Given the description of an element on the screen output the (x, y) to click on. 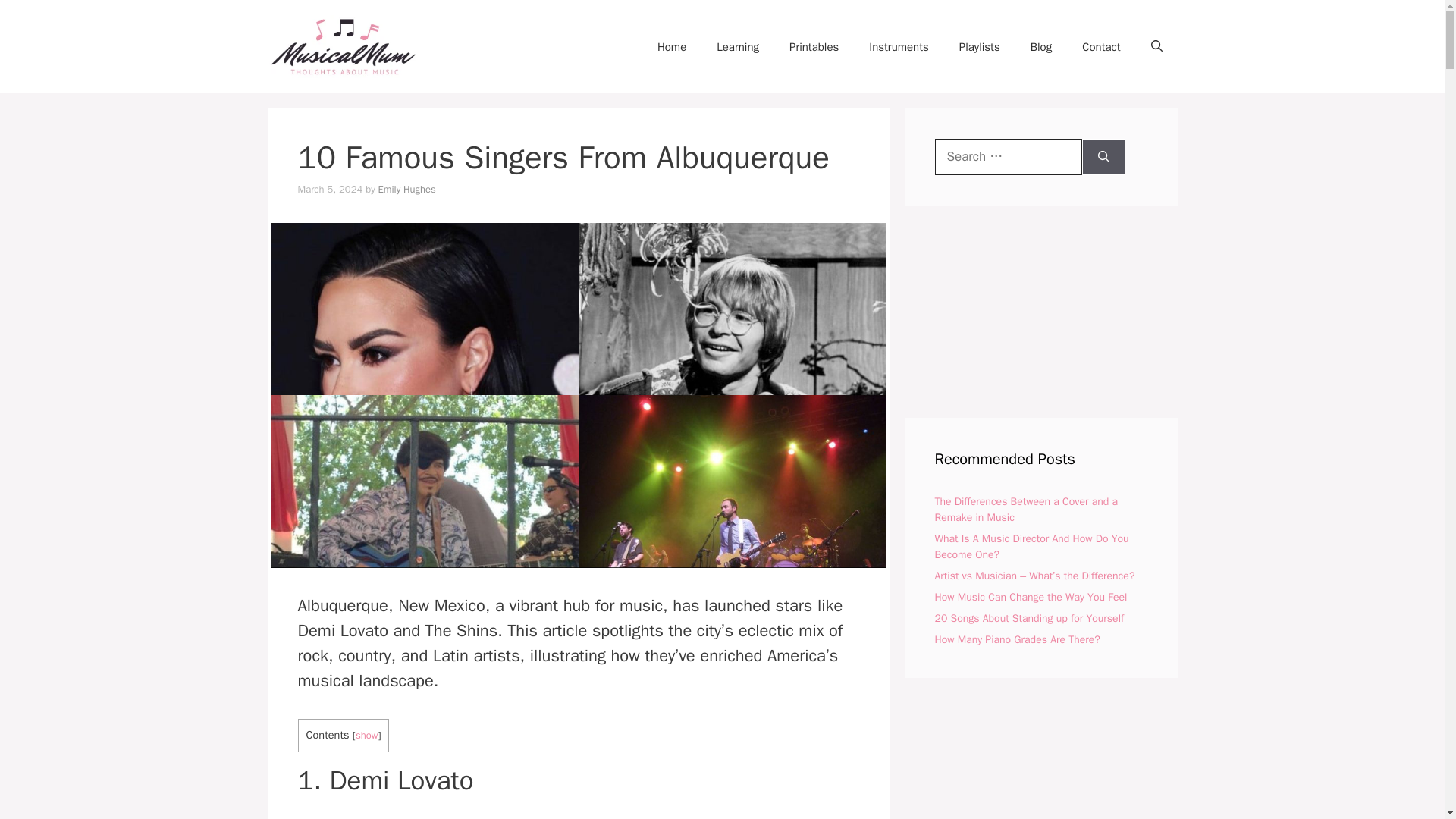
Instruments (898, 46)
View all posts by Emily Hughes (406, 188)
Learning (737, 46)
Printables (813, 46)
Blog (1040, 46)
show (366, 735)
Home (671, 46)
Playlists (978, 46)
Contact (1101, 46)
Emily Hughes (406, 188)
